Given the description of an element on the screen output the (x, y) to click on. 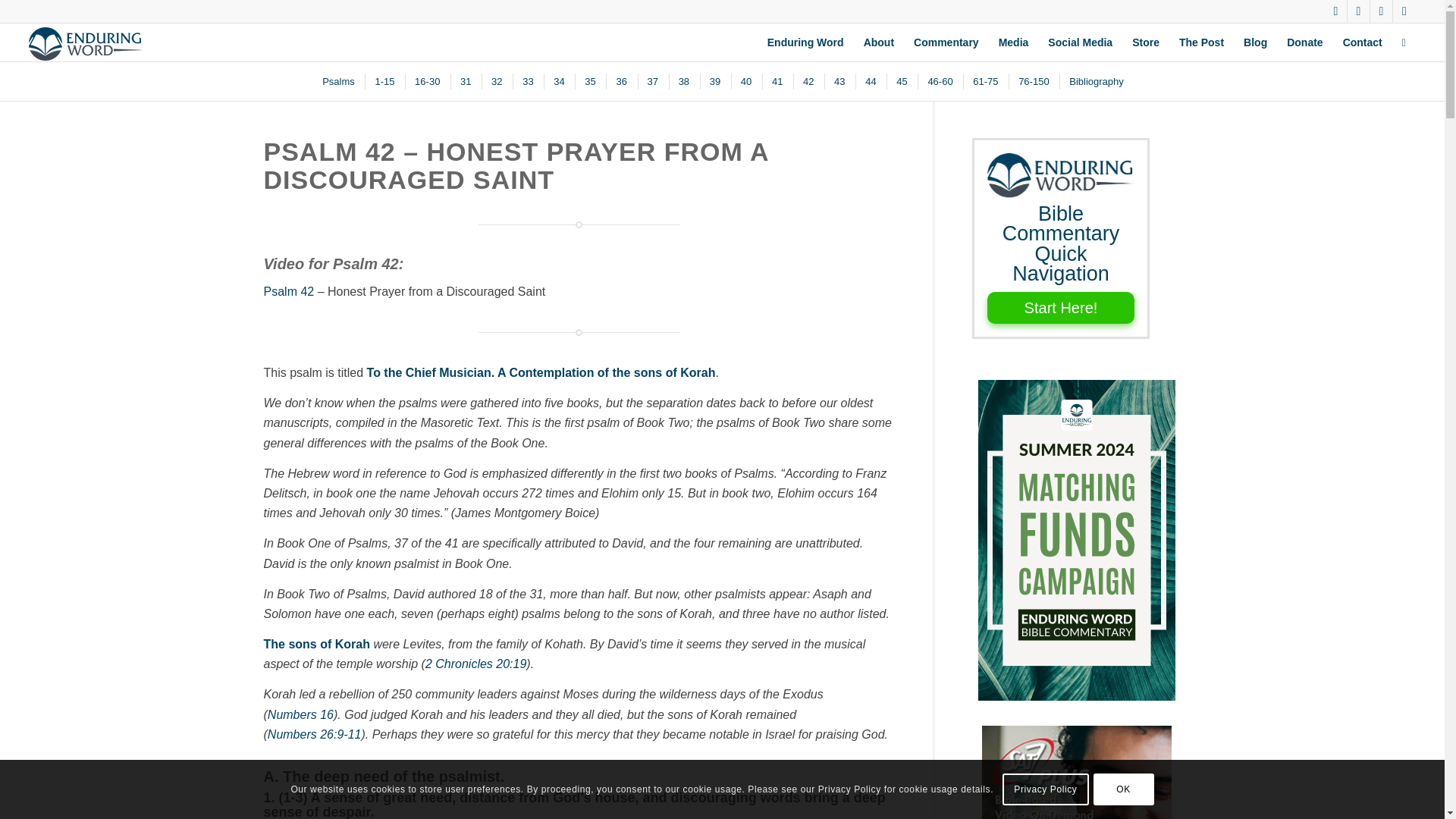
Enduring Word (805, 42)
Facebook (1359, 11)
About (878, 42)
Commentary (946, 42)
Instagram (1380, 11)
Twitter (1335, 11)
Youtube (1404, 11)
Media (1013, 42)
